Given the description of an element on the screen output the (x, y) to click on. 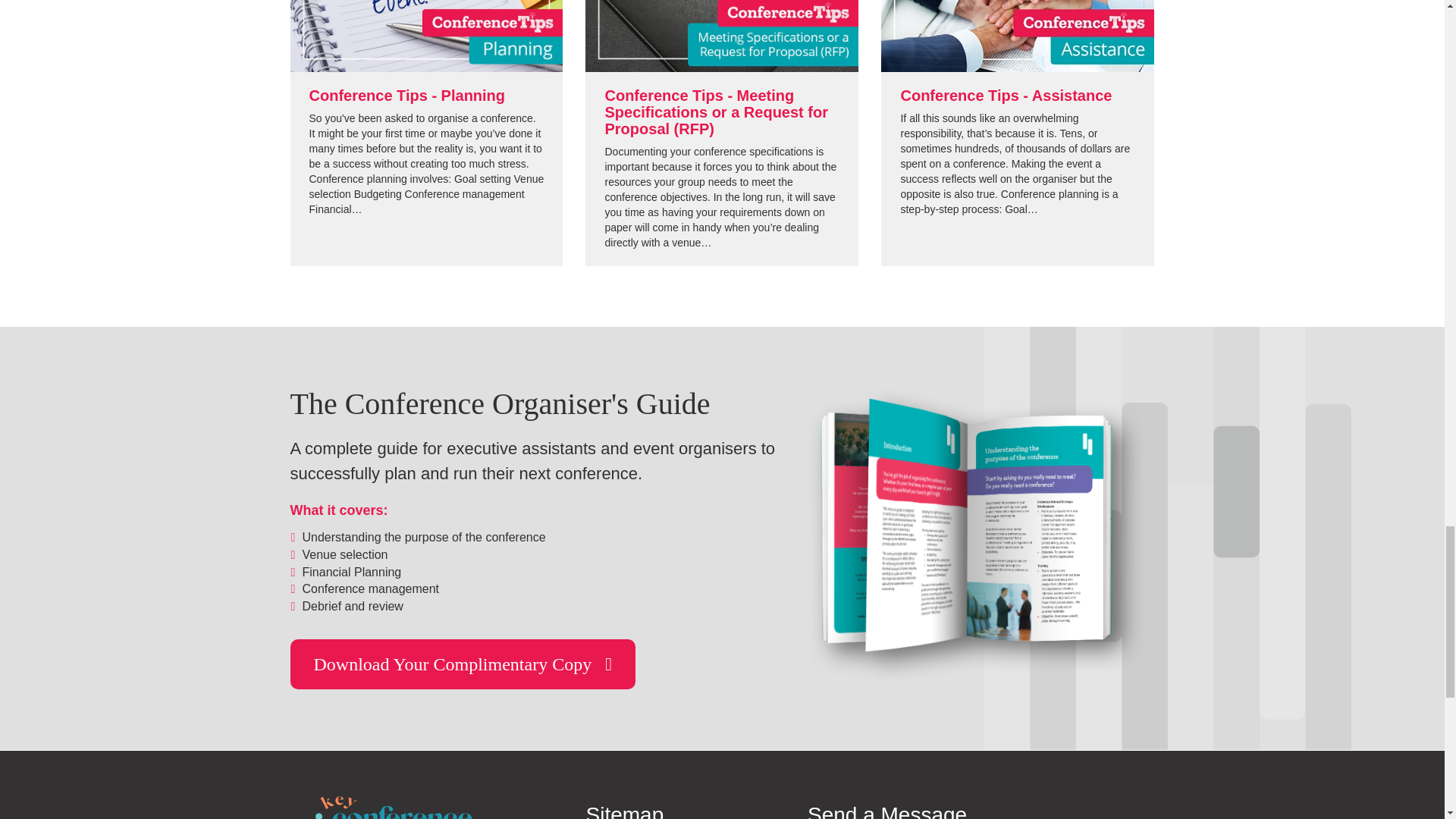
Conference Tips - Planning (406, 95)
Conference Tips - Assistance (1005, 95)
Download Your Complimentary Copy (461, 664)
